Given the description of an element on the screen output the (x, y) to click on. 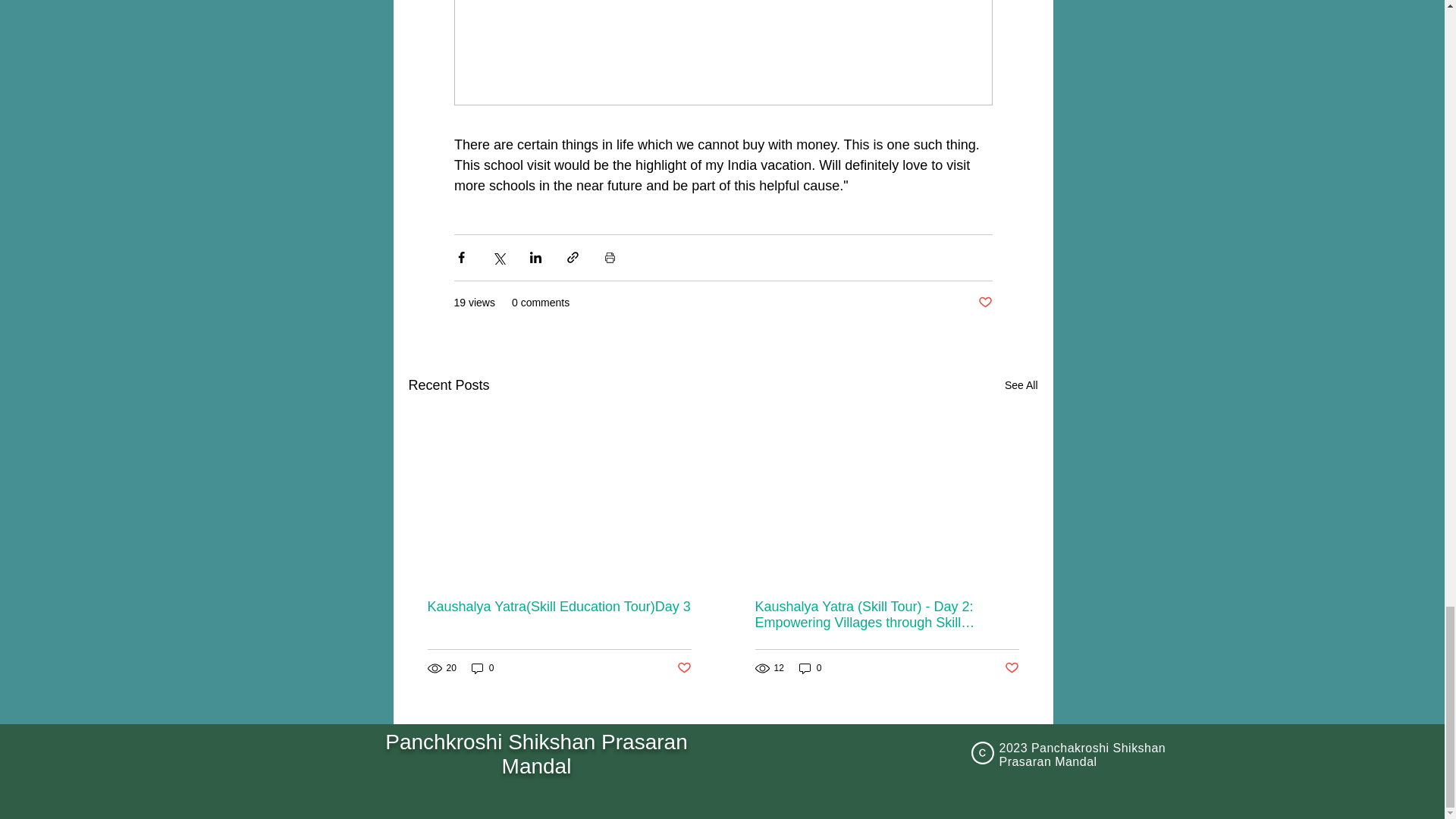
Post not marked as liked (985, 302)
See All (1021, 385)
0 (810, 667)
0 (483, 667)
Post not marked as liked (1010, 668)
Post not marked as liked (683, 668)
